Given the description of an element on the screen output the (x, y) to click on. 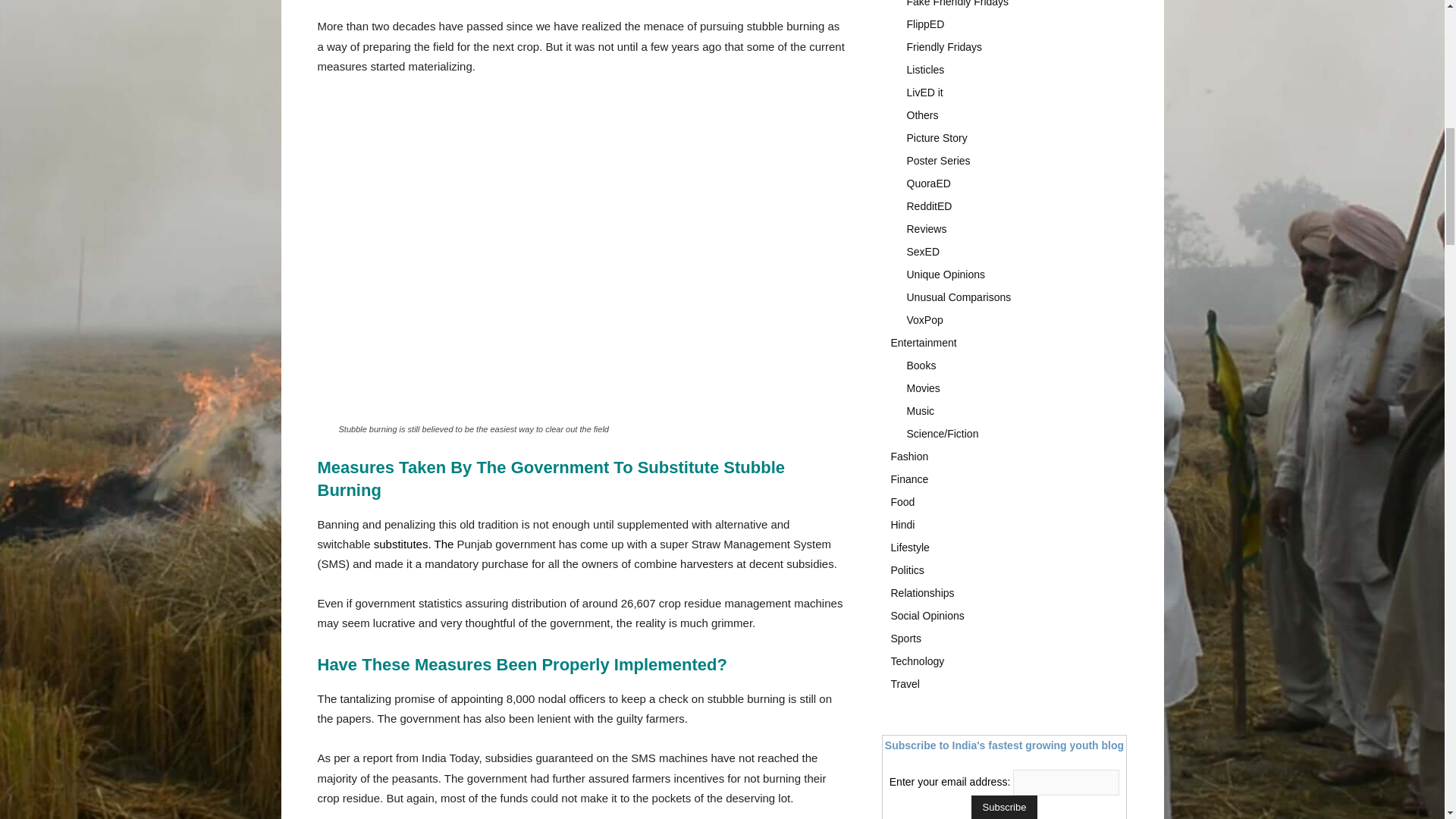
Subscribe (1004, 807)
